Given the description of an element on the screen output the (x, y) to click on. 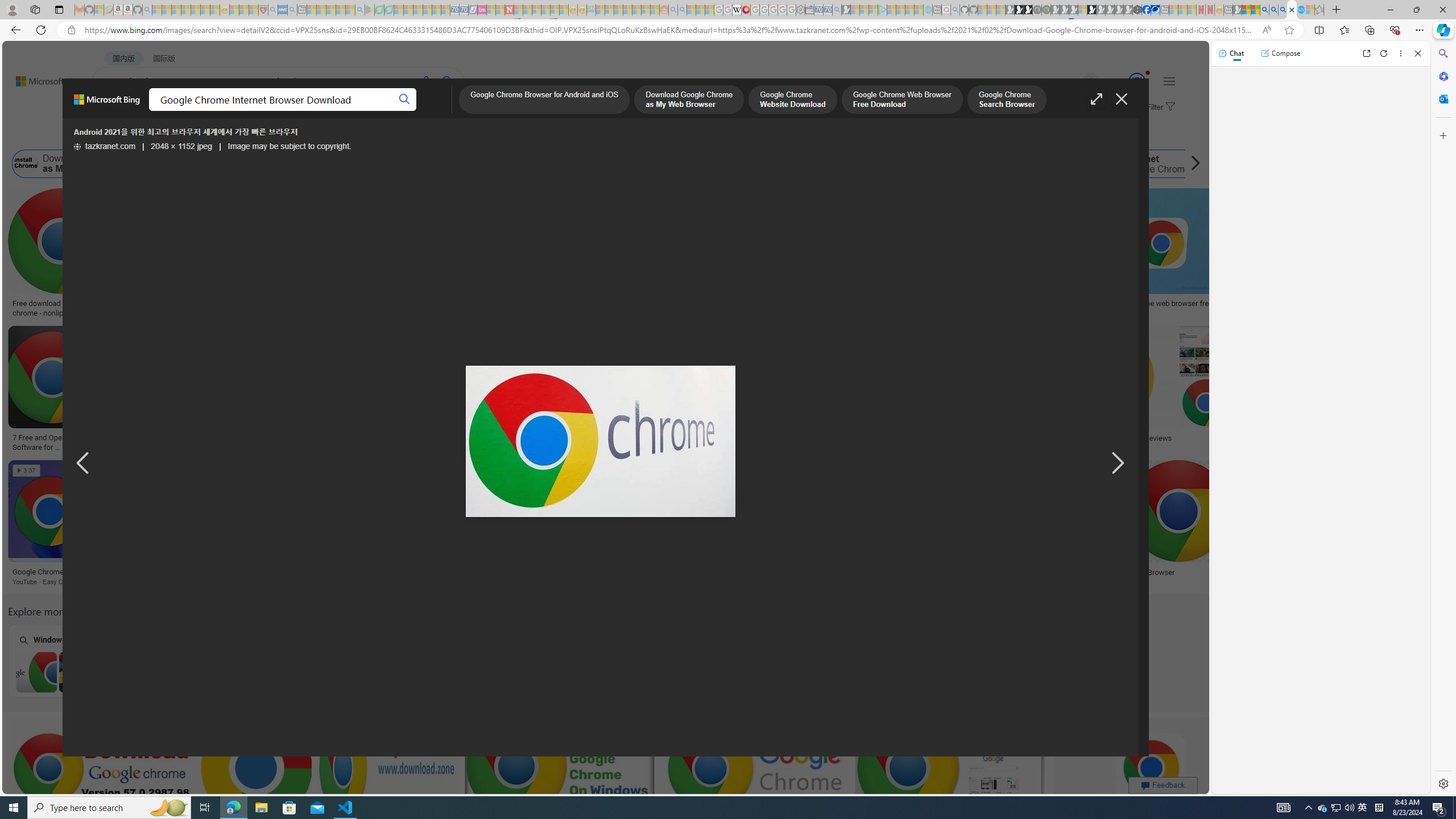
ACADEMIC (360, 111)
Free download google chrome - nonlipatSave (62, 254)
WEB (114, 111)
How to download & install Chrome on Windows 10 /11 (994, 303)
Google Chrome Search Browser (523, 163)
The latest version of google chrome free download - gaimacro (980, 441)
